Given the description of an element on the screen output the (x, y) to click on. 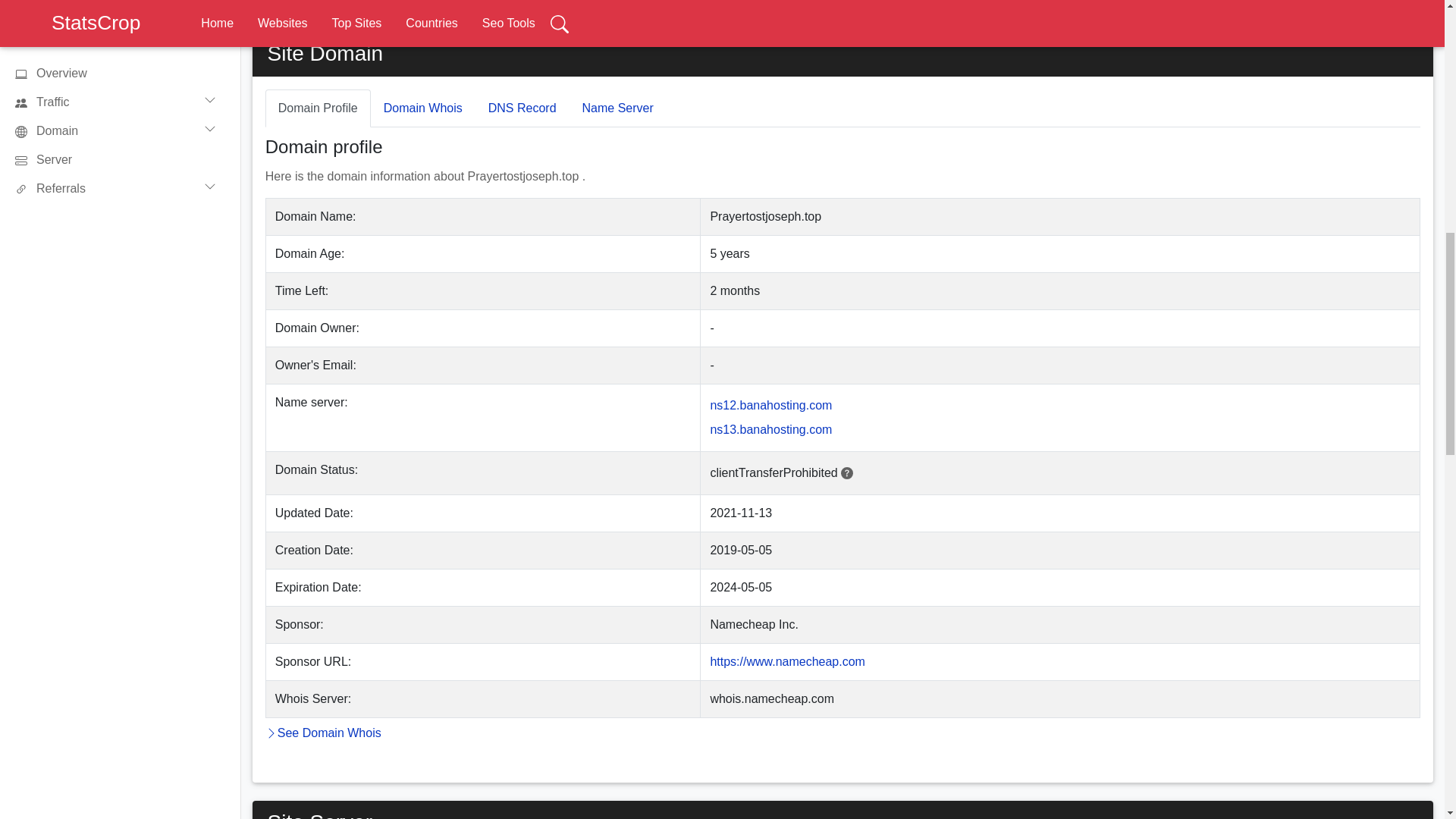
ns13.banahosting.com (770, 429)
Name Server (617, 108)
Domain Profile (317, 108)
ns12.banahosting.com (770, 404)
Domain Whois (423, 108)
DNS Record (522, 108)
